Given the description of an element on the screen output the (x, y) to click on. 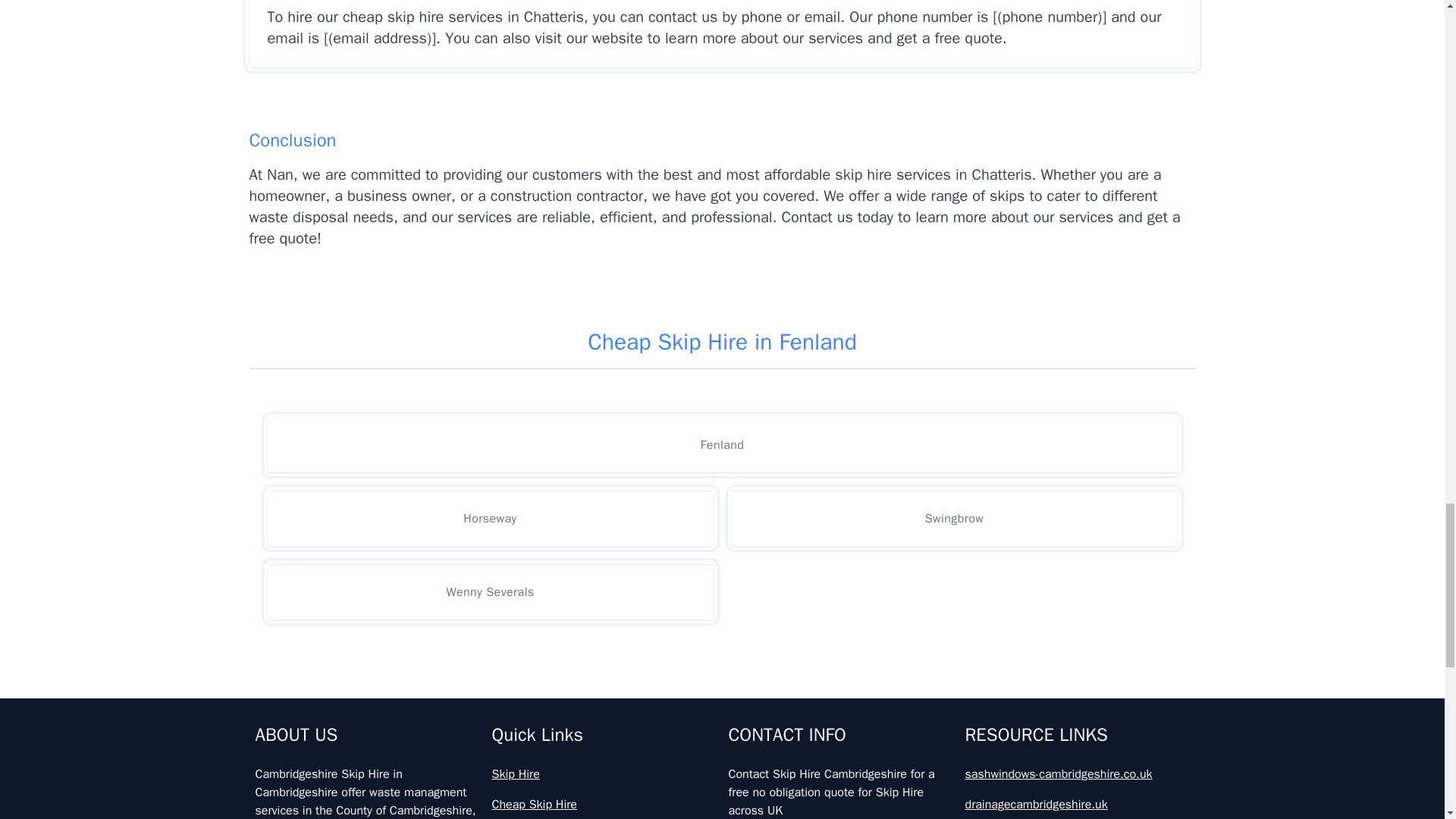
Horseway (489, 518)
Fenland (721, 444)
drainagecambridgeshire.uk (1076, 804)
sashwindows-cambridgeshire.co.uk (1076, 773)
Swingbrow (953, 518)
Skip Hire (604, 773)
Wenny Severals (489, 591)
Cheap Skip Hire (604, 804)
